Given the description of an element on the screen output the (x, y) to click on. 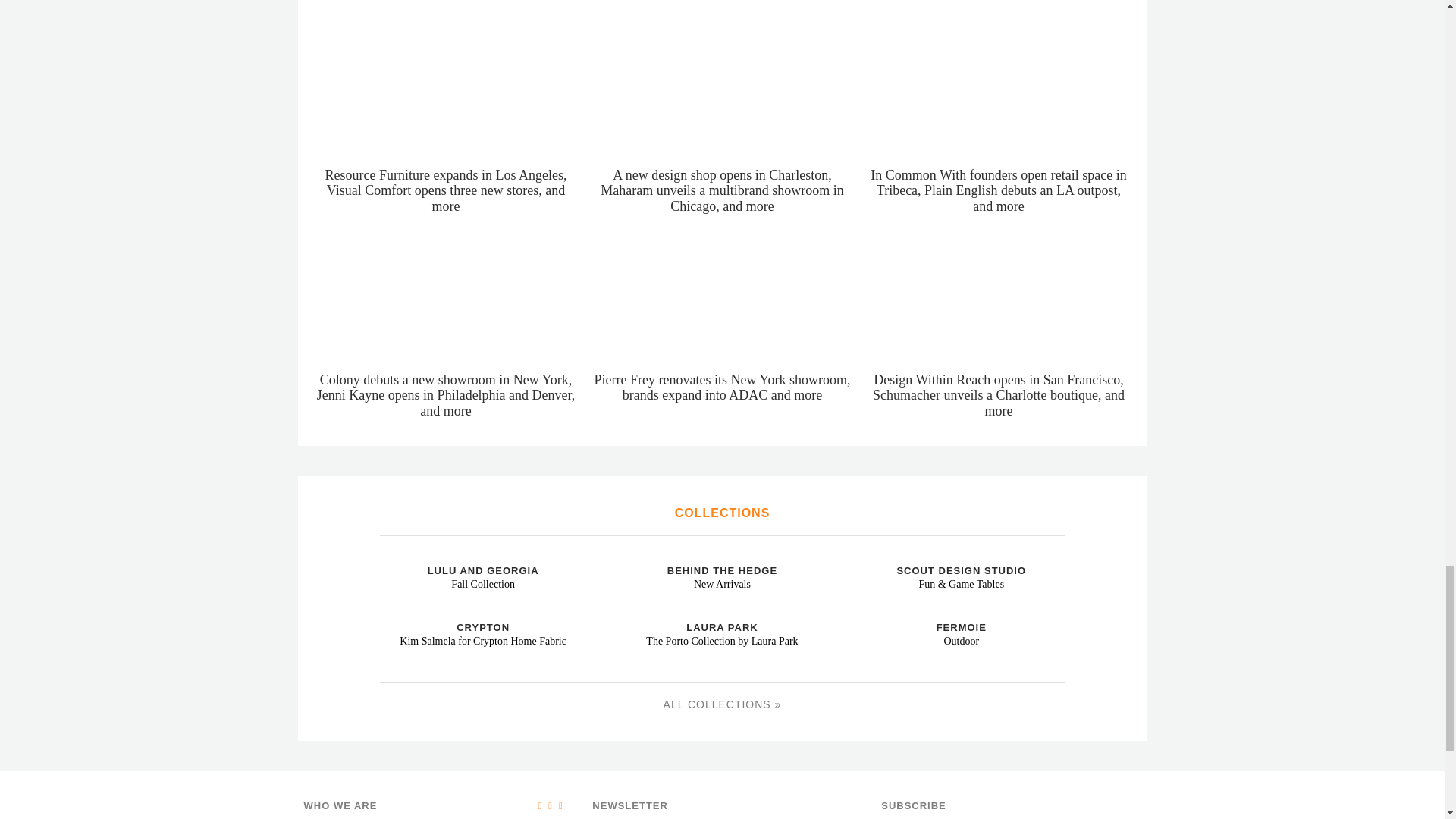
Fall Collection (384, 558)
New Arrivals (624, 558)
